Given the description of an element on the screen output the (x, y) to click on. 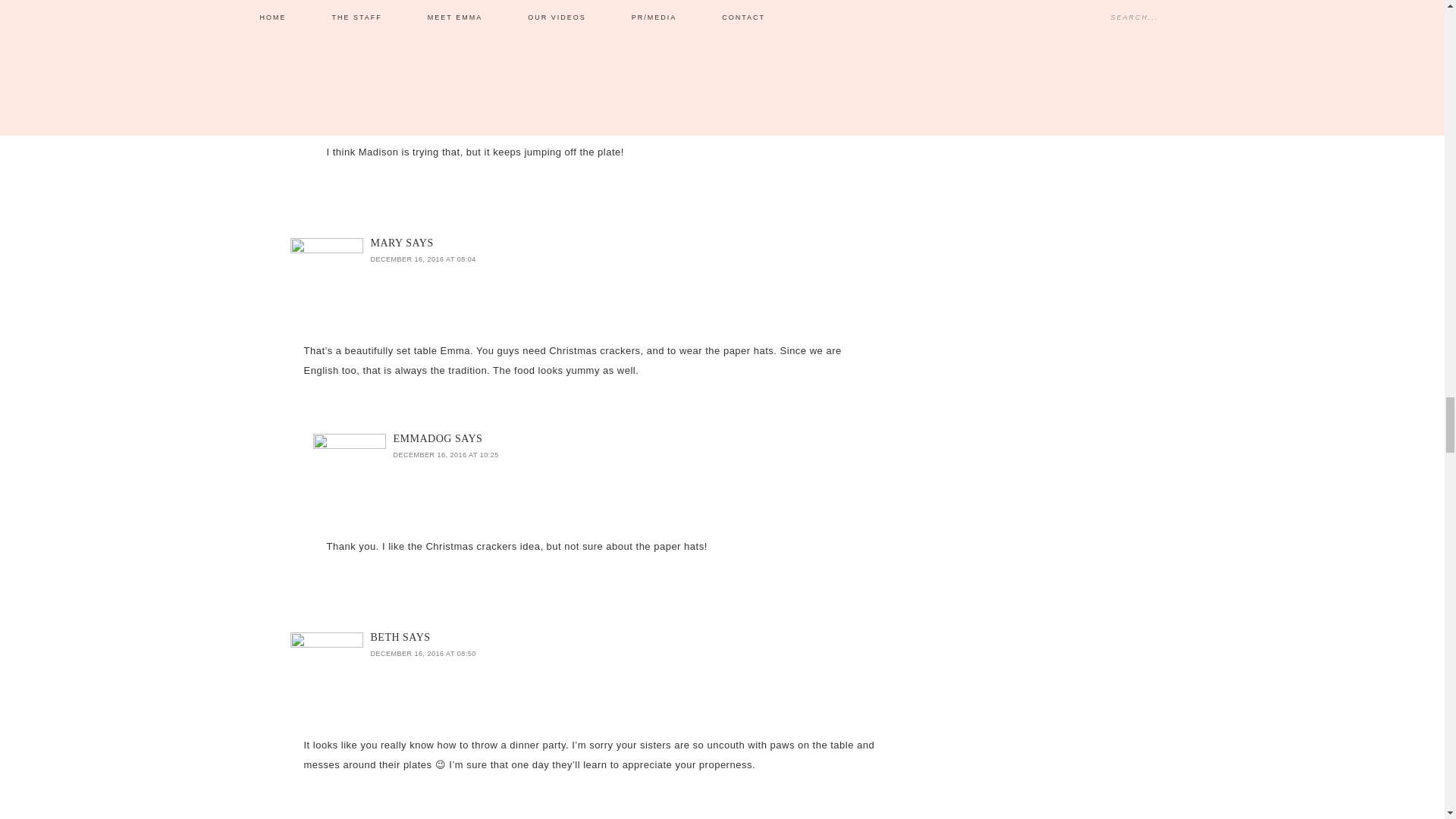
MARY (386, 242)
DECEMBER 16, 2016 AT 08:50 (422, 653)
BETH (383, 636)
DECEMBER 16, 2016 AT 10:24 (445, 60)
DECEMBER 16, 2016 AT 08:04 (422, 258)
DECEMBER 16, 2016 AT 10:25 (445, 454)
